Given the description of an element on the screen output the (x, y) to click on. 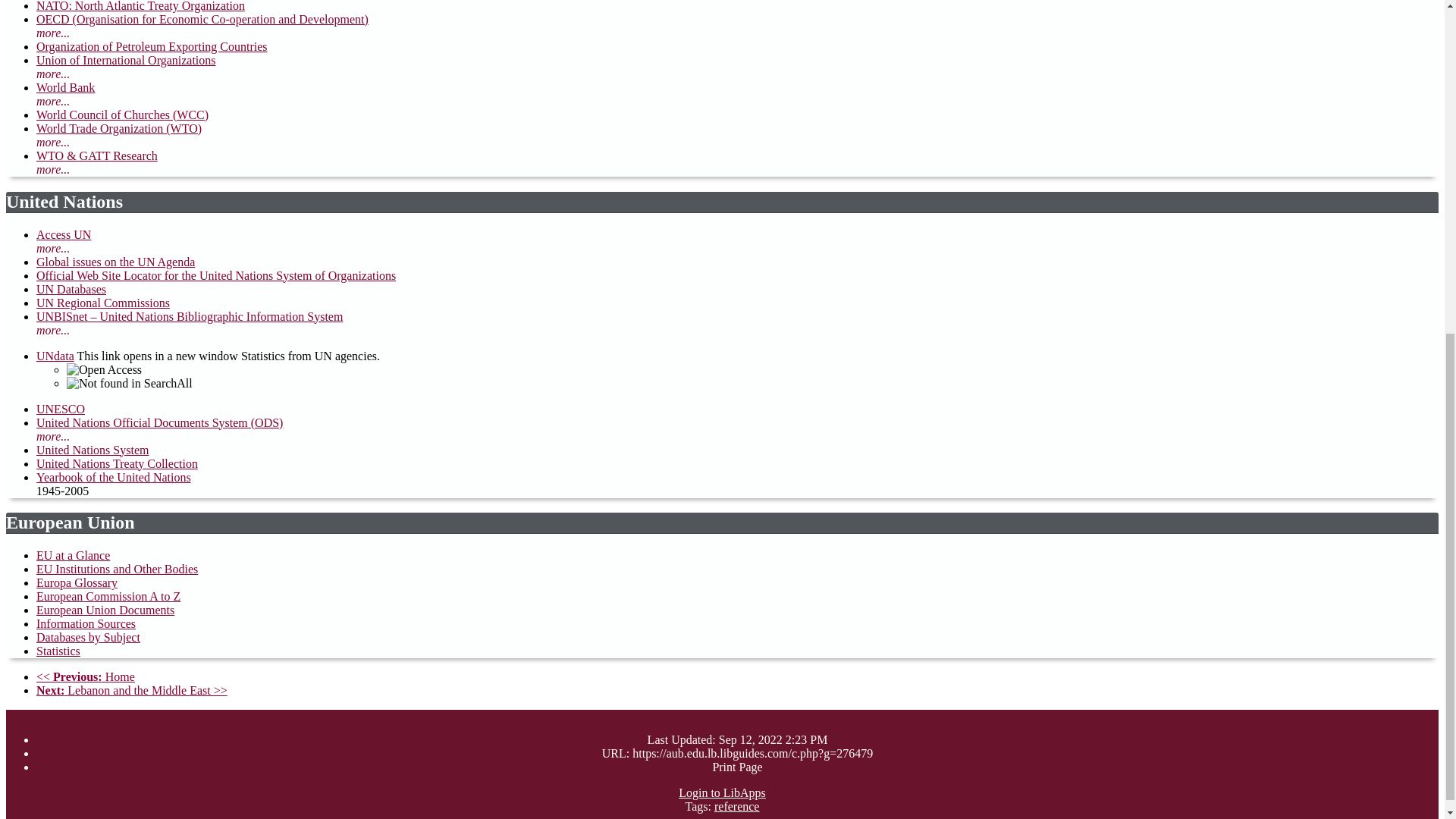
Union of International Organizations (125, 60)
Organization of Petroleum Exporting Countries (151, 46)
World Bank (65, 87)
NATO: North Atlantic Treaty Organization (140, 6)
